Given the description of an element on the screen output the (x, y) to click on. 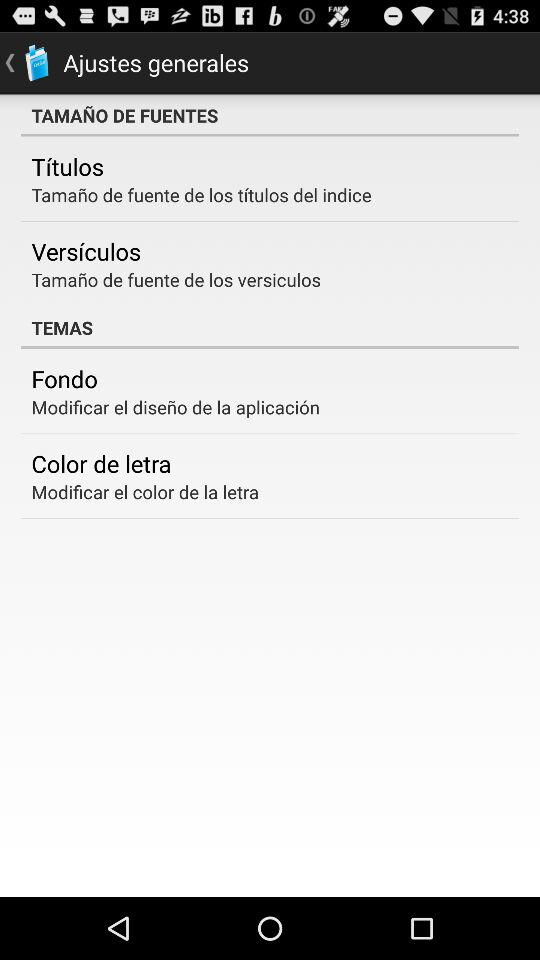
swipe to temas app (270, 327)
